Given the description of an element on the screen output the (x, y) to click on. 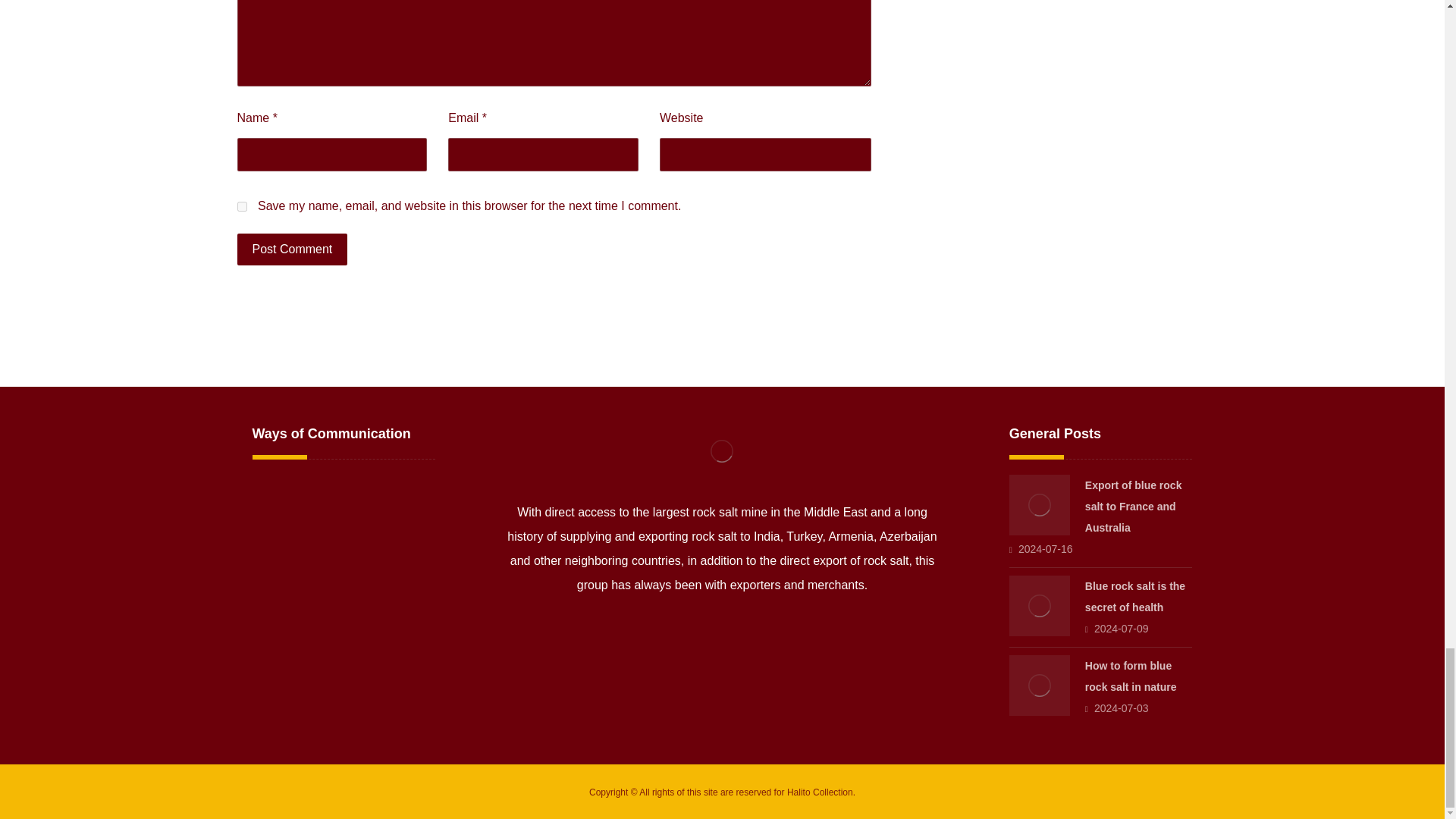
Export of blue rock salt to France and Australia (1133, 506)
Blue rock salt is the secret of health (1134, 596)
yes (240, 206)
How to form blue rock salt in nature (1130, 676)
Export of blue rock salt to France and Australia (1039, 505)
Blue rock salt is the secret of health (1039, 605)
How to form blue rock salt in nature (1039, 685)
Post Comment (291, 249)
